Given the description of an element on the screen output the (x, y) to click on. 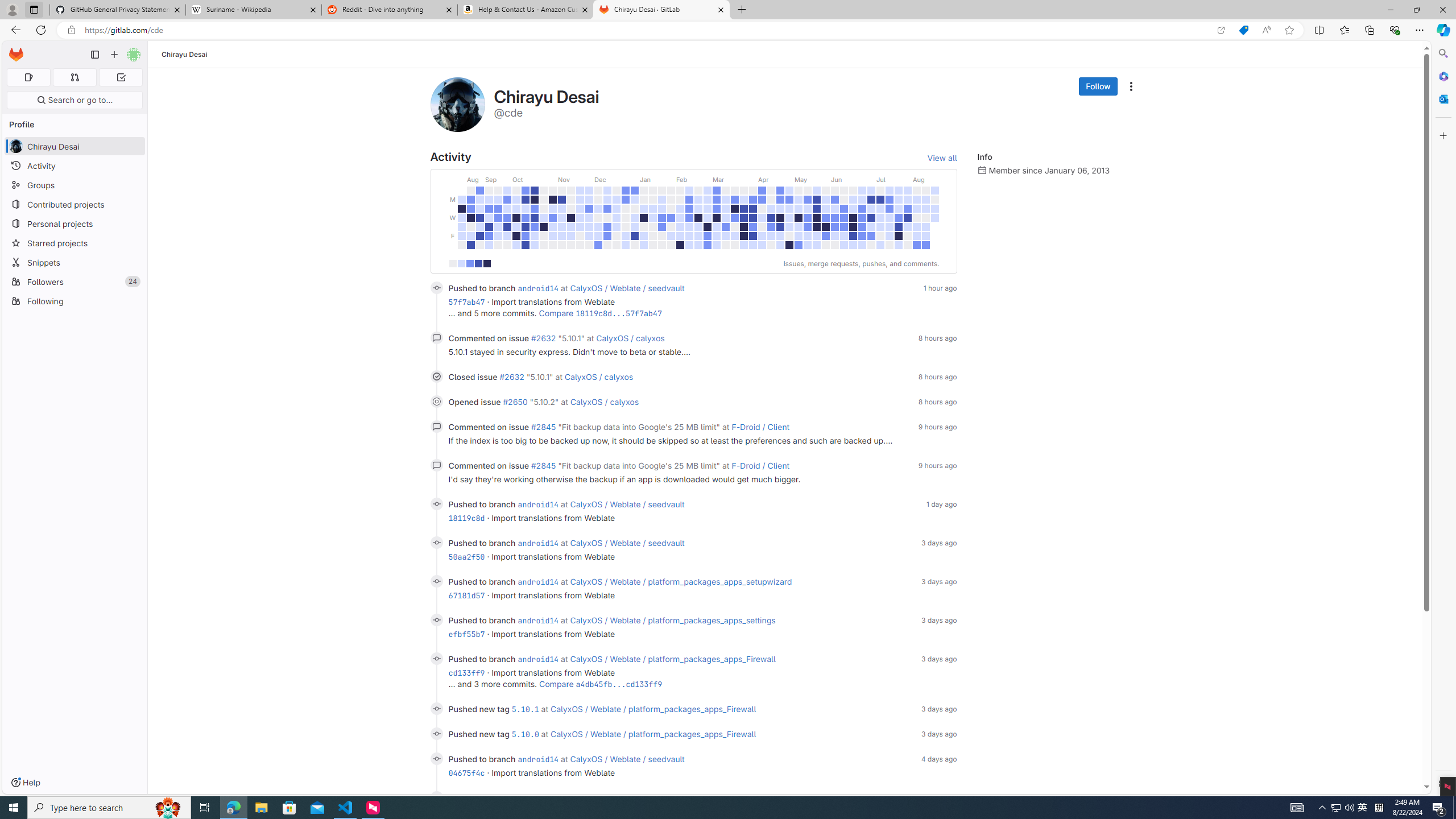
Compare a4db45fb...cd133ff9 (600, 683)
04675f4c (466, 773)
Contributed projects (74, 203)
